Given the description of an element on the screen output the (x, y) to click on. 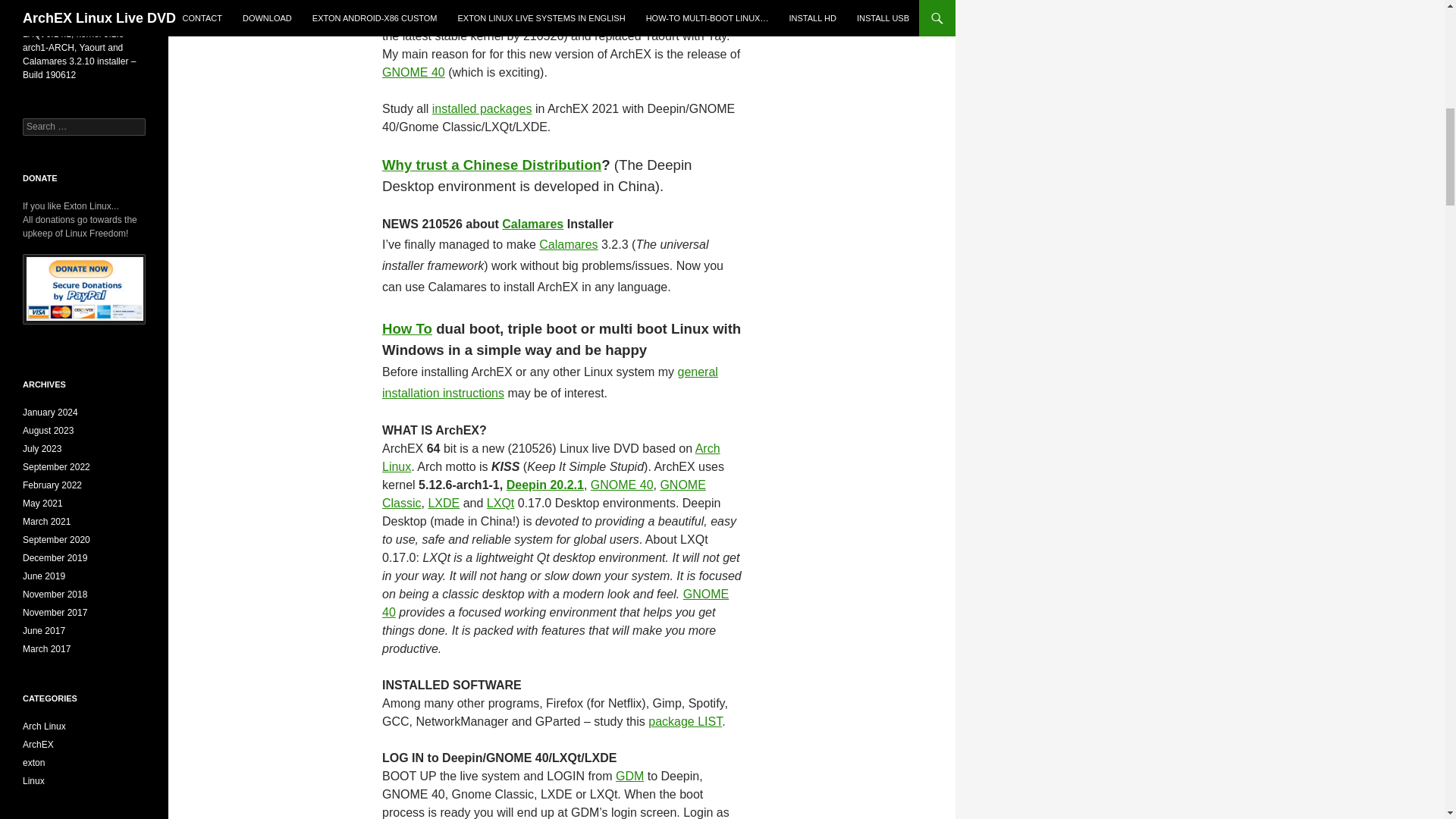
GNOME 40 (413, 72)
How To (406, 328)
installed packages (482, 108)
Arch Linux (550, 457)
Why trust a Chinese Distribution (491, 164)
Deepin 20.2.1 (544, 484)
Calamares (567, 244)
Calamares (532, 223)
GNOME 40 (622, 484)
general installation instructions (549, 382)
